Given the description of an element on the screen output the (x, y) to click on. 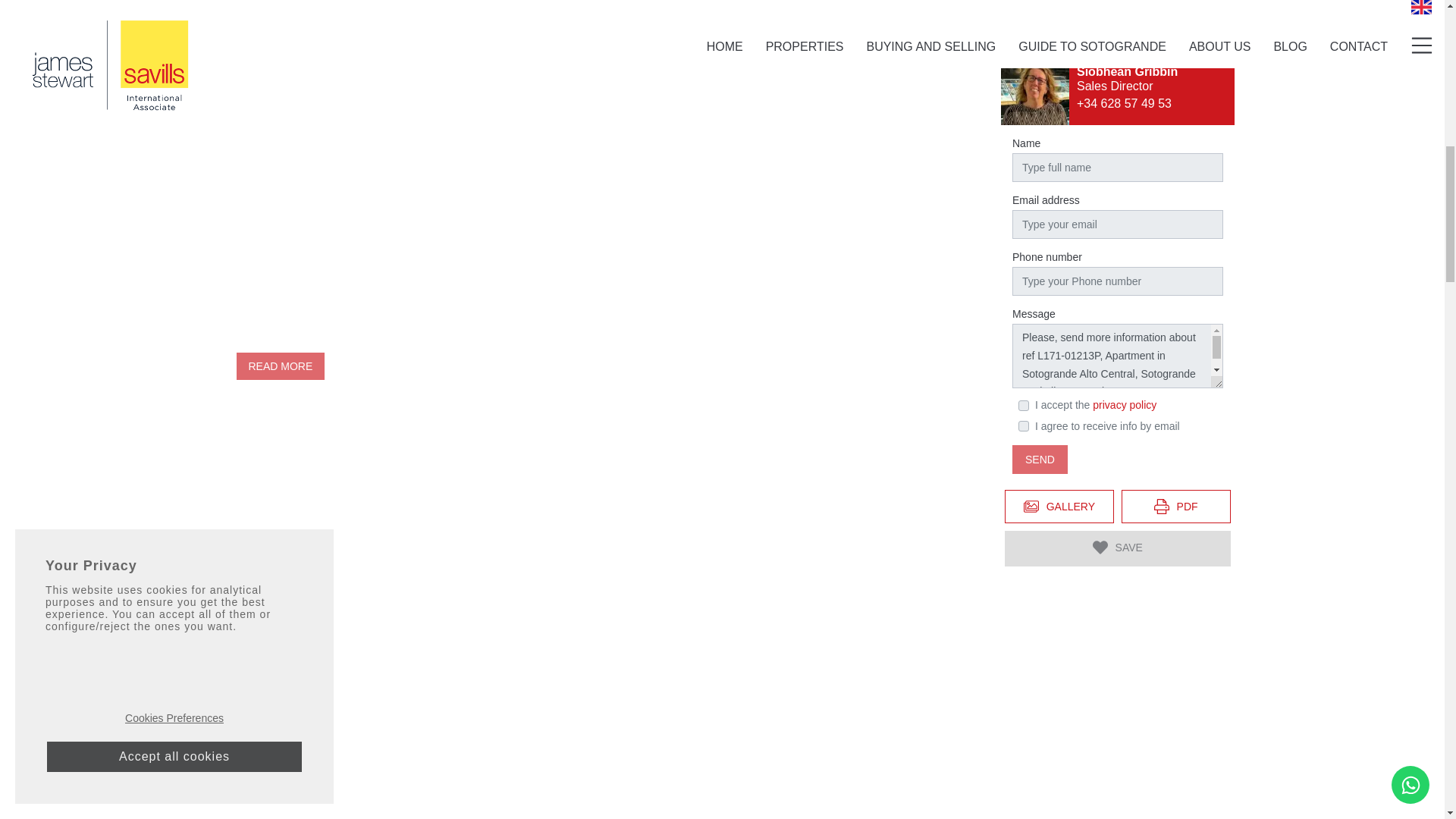
READ MORE (280, 366)
VIEW MORE (772, 20)
PDF (1175, 343)
privacy policy (1124, 241)
View 20 Gallery (1058, 343)
SEND (1039, 296)
SAVE (1117, 385)
GALLERY (1058, 343)
privacy policy (1124, 241)
